Given the description of an element on the screen output the (x, y) to click on. 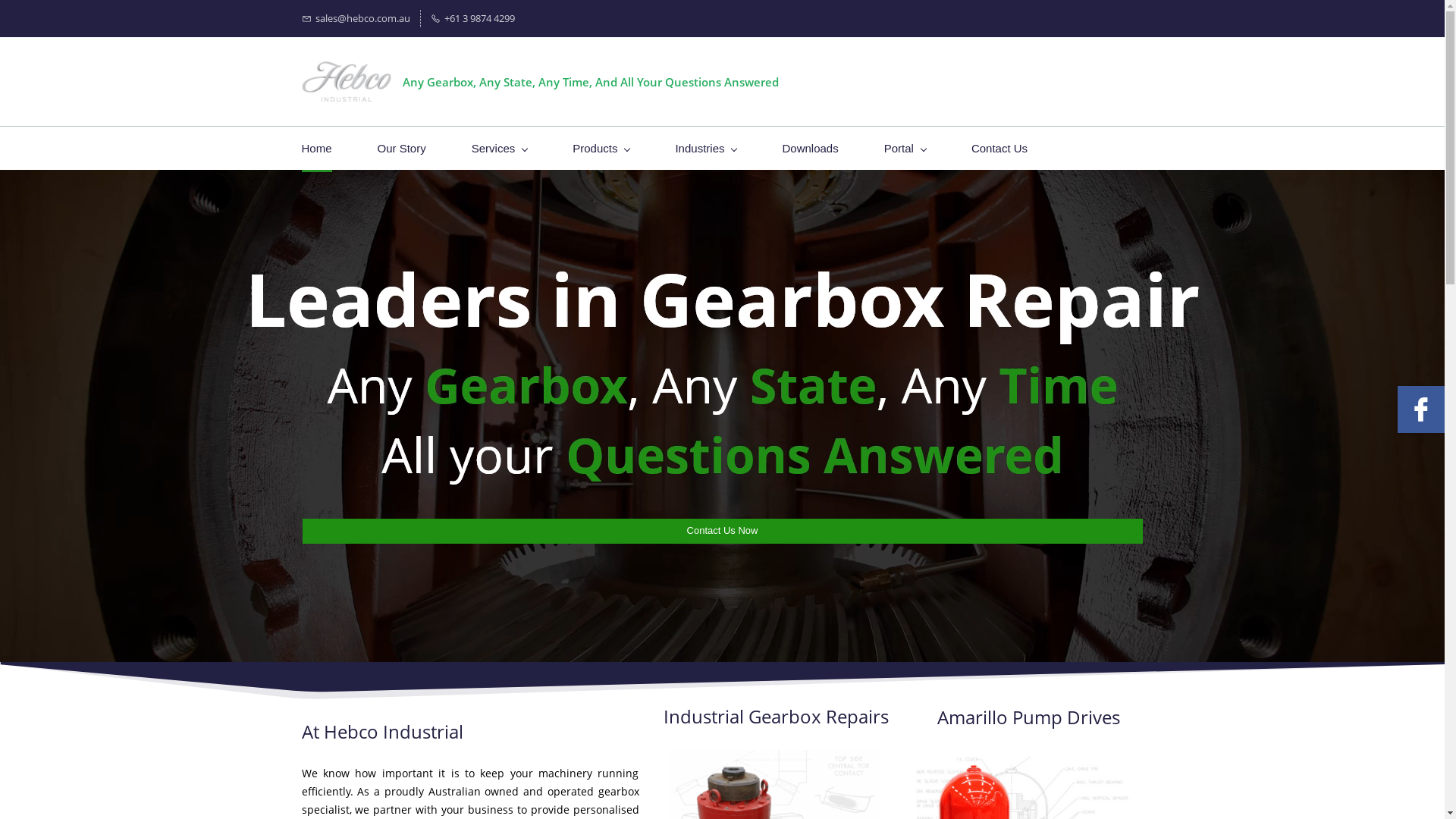
Portal Element type: text (904, 147)
Downloads Element type: text (809, 147)
+61 3 9874 4299 Element type: text (472, 18)
Our Story Element type: text (401, 147)
Contact Us Now Element type: text (721, 530)
Contact Us Element type: text (999, 147)
Services Element type: text (499, 147)
Industries Element type: text (705, 147)
Products Element type: text (600, 147)
Home Element type: text (316, 147)
sales@hebco.com.au Element type: text (355, 18)
